Given the description of an element on the screen output the (x, y) to click on. 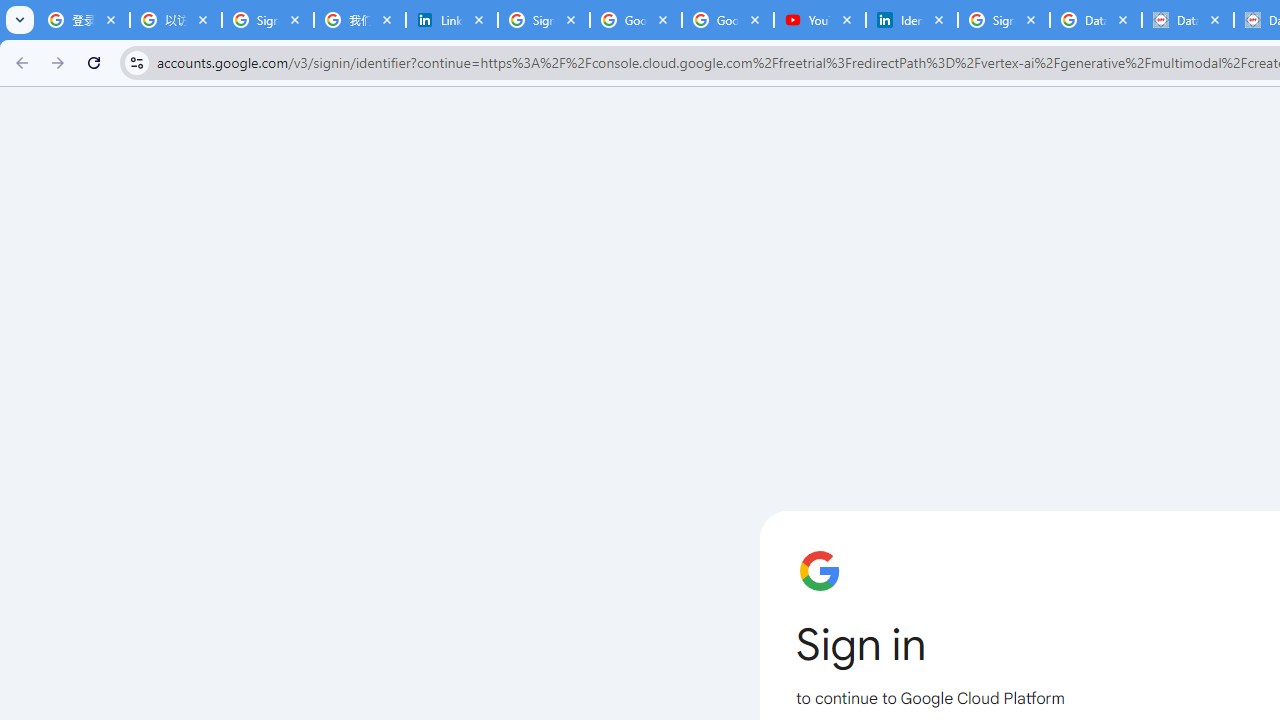
Sign in - Google Accounts (267, 20)
Data Privacy Framework (1187, 20)
Sign in - Google Accounts (543, 20)
Sign in - Google Accounts (1003, 20)
